Given the description of an element on the screen output the (x, y) to click on. 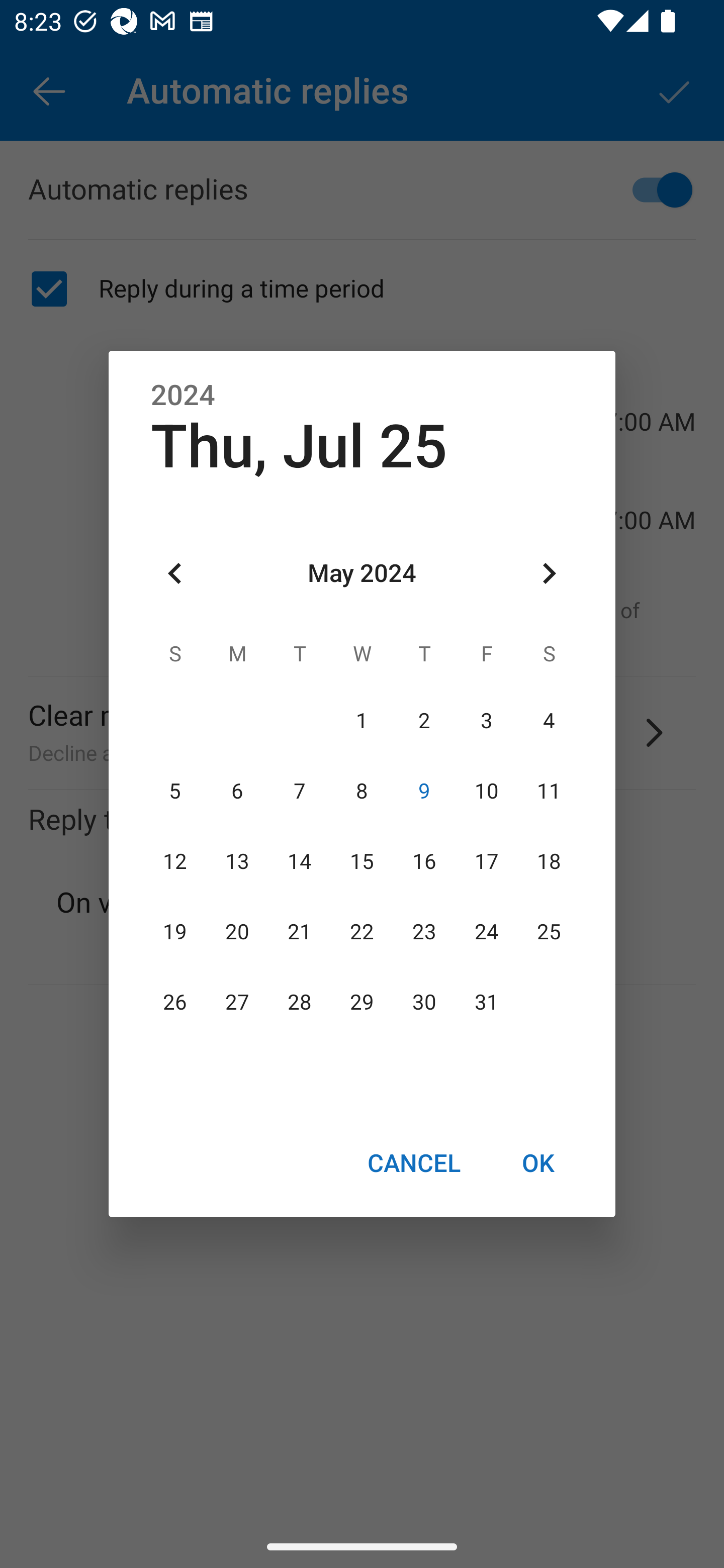
2024 (182, 395)
Thu, Jul 25 (298, 446)
Previous month (174, 573)
Next month (548, 573)
1 01 May 2024 (361, 720)
2 02 May 2024 (424, 720)
3 03 May 2024 (486, 720)
4 04 May 2024 (548, 720)
5 05 May 2024 (175, 790)
6 06 May 2024 (237, 790)
7 07 May 2024 (299, 790)
8 08 May 2024 (361, 790)
9 09 May 2024 (424, 790)
10 10 May 2024 (486, 790)
11 11 May 2024 (548, 790)
12 12 May 2024 (175, 861)
13 13 May 2024 (237, 861)
14 14 May 2024 (299, 861)
15 15 May 2024 (361, 861)
16 16 May 2024 (424, 861)
17 17 May 2024 (486, 861)
18 18 May 2024 (548, 861)
19 19 May 2024 (175, 931)
20 20 May 2024 (237, 931)
21 21 May 2024 (299, 931)
22 22 May 2024 (361, 931)
23 23 May 2024 (424, 931)
24 24 May 2024 (486, 931)
25 25 May 2024 (548, 931)
26 26 May 2024 (175, 1002)
27 27 May 2024 (237, 1002)
28 28 May 2024 (299, 1002)
29 29 May 2024 (361, 1002)
30 30 May 2024 (424, 1002)
31 31 May 2024 (486, 1002)
CANCEL (413, 1162)
OK (537, 1162)
